Given the description of an element on the screen output the (x, y) to click on. 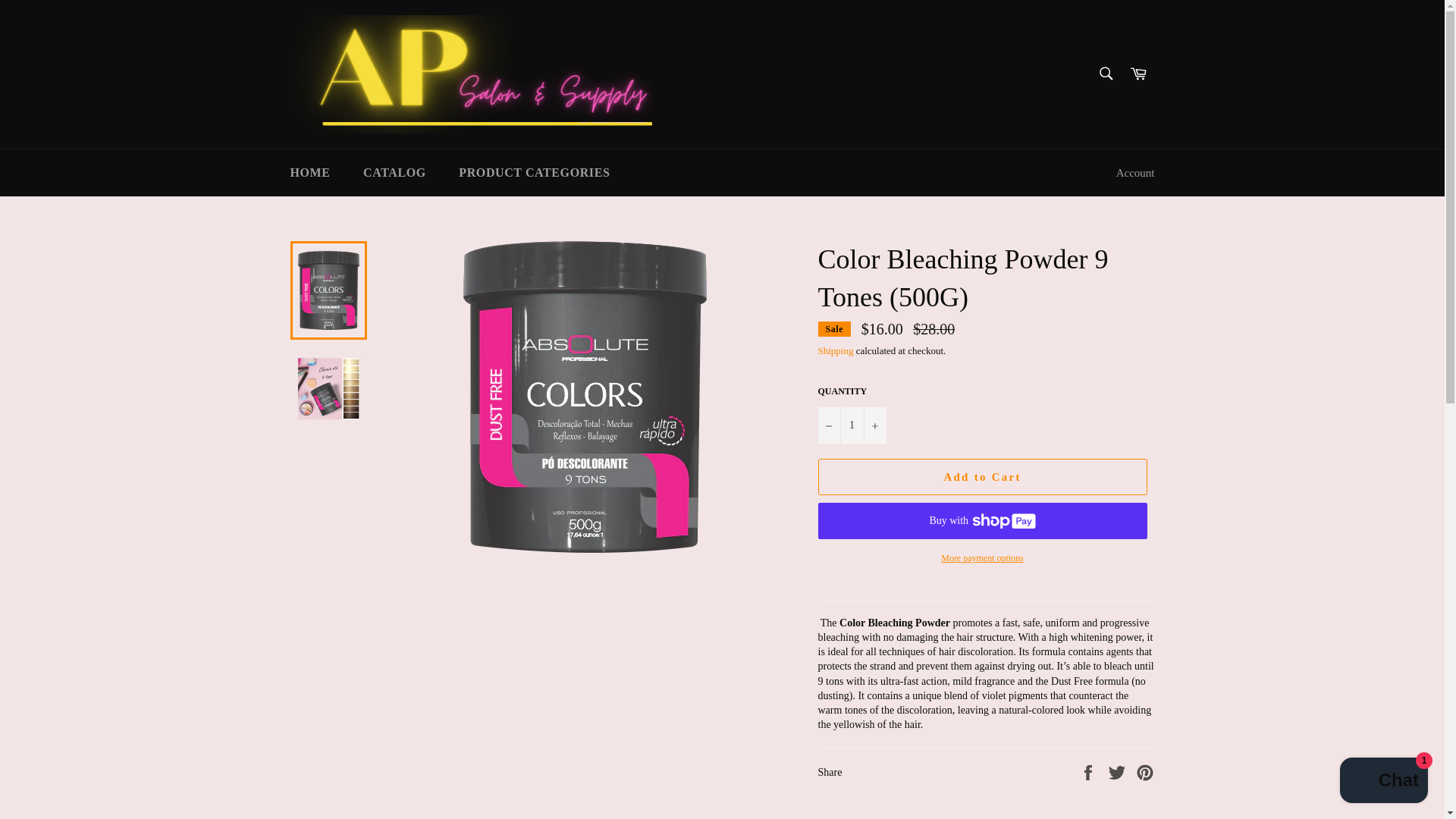
Share on Facebook (1089, 771)
Tweet on Twitter (1118, 771)
1 (850, 425)
Account (1134, 172)
HOME (310, 172)
Search (1104, 73)
Pin on Pinterest (1144, 771)
Share on Facebook (1089, 771)
Shipping (834, 350)
Cart (1138, 74)
Shopify online store chat (1383, 781)
Tweet on Twitter (1118, 771)
CATALOG (394, 172)
PRODUCT CATEGORIES (534, 172)
Pin on Pinterest (1144, 771)
